Given the description of an element on the screen output the (x, y) to click on. 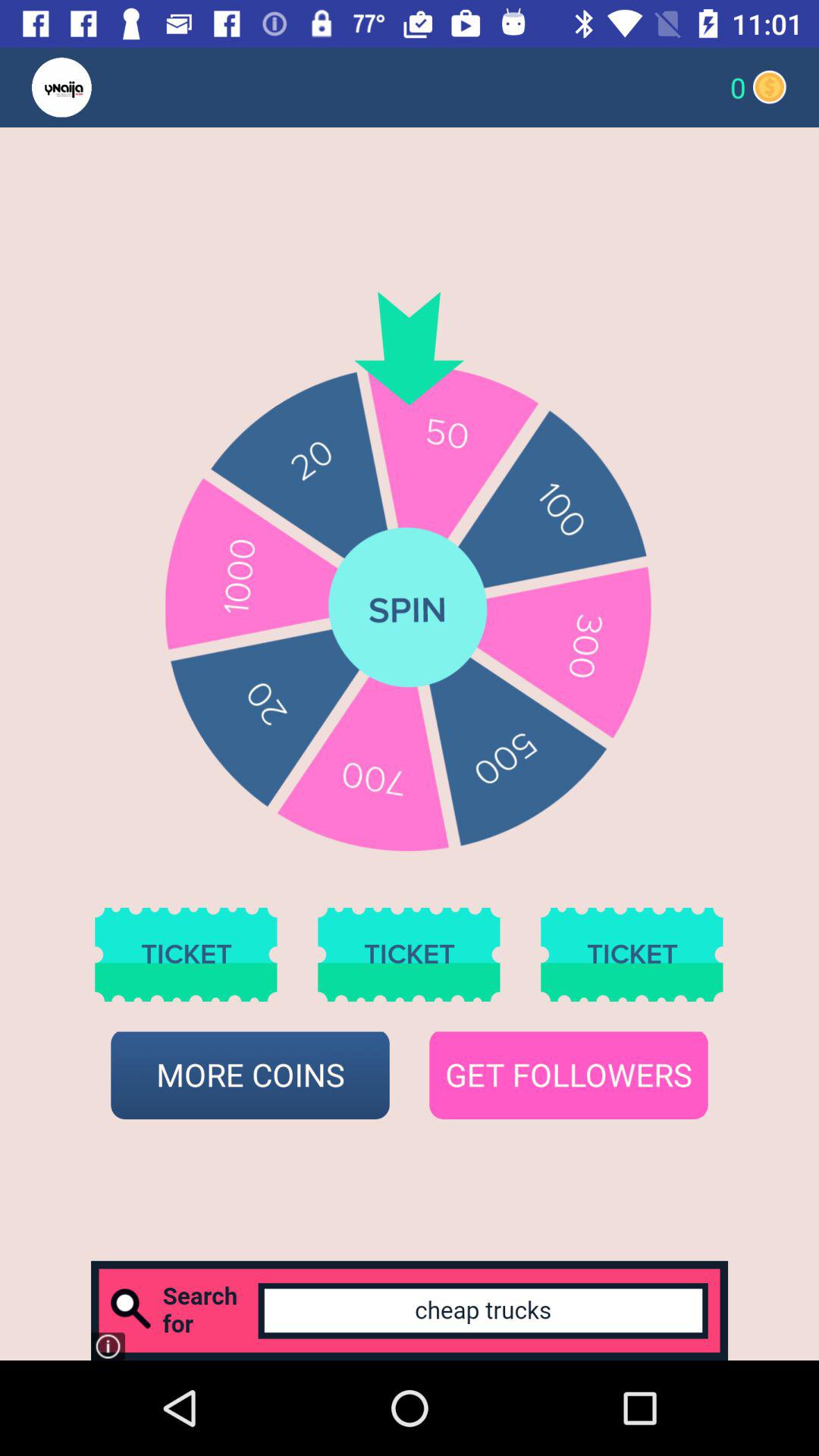
turn off the more coins icon (249, 1075)
